Given the description of an element on the screen output the (x, y) to click on. 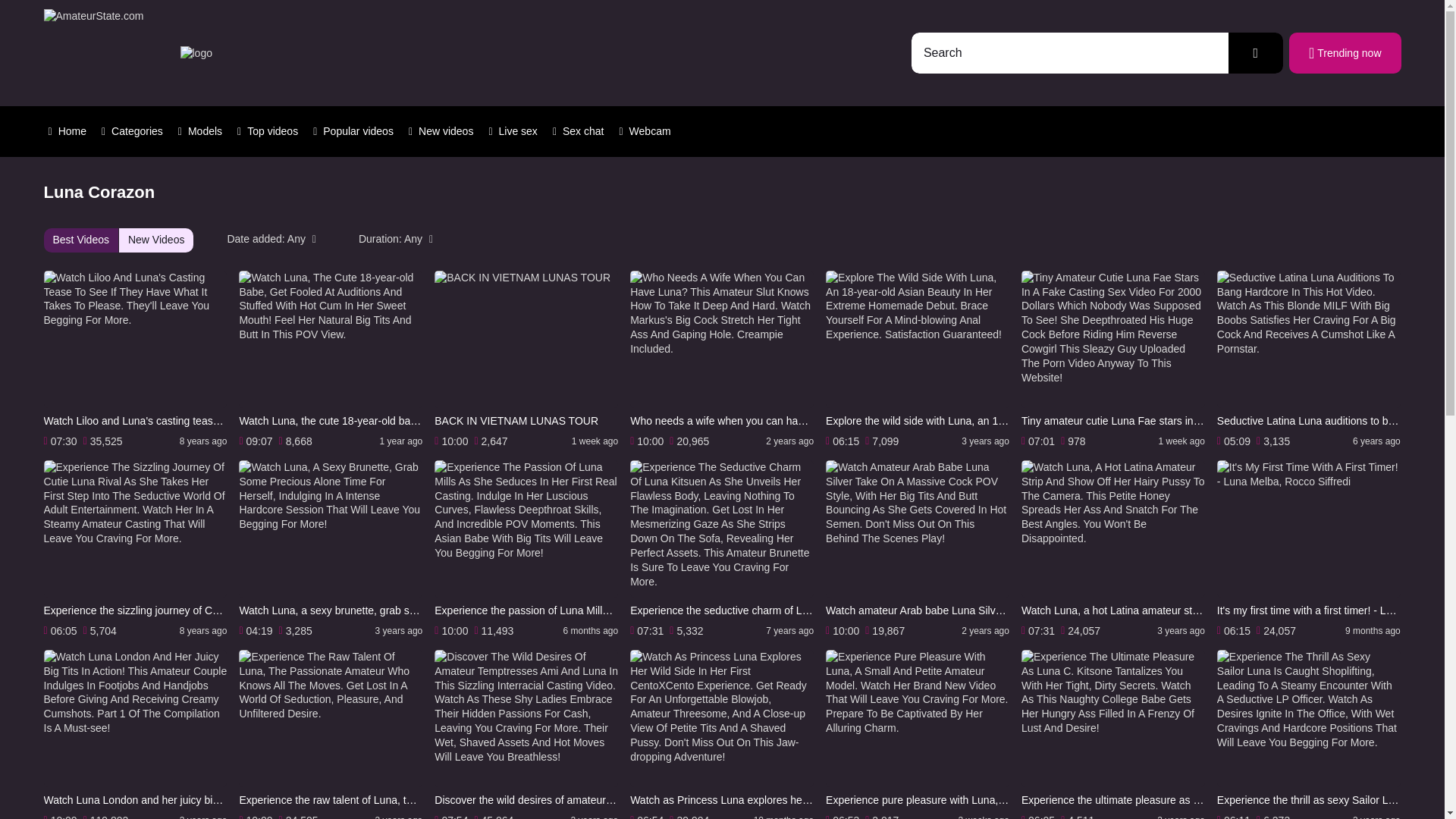
New Videos (156, 240)
Sex chat (578, 131)
Live sex (512, 131)
Top videos (267, 131)
Webcam (644, 131)
